Given the description of an element on the screen output the (x, y) to click on. 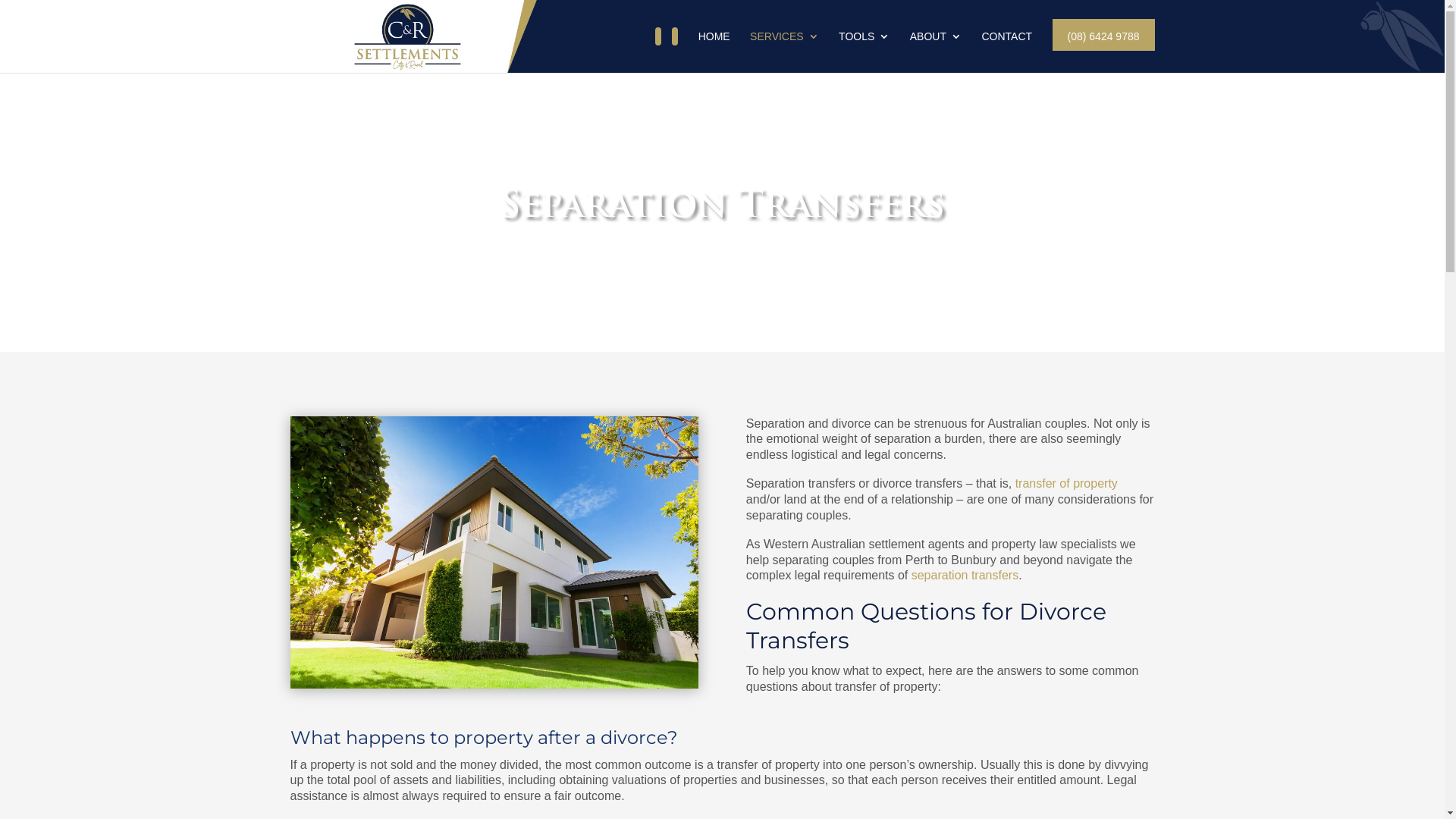
transfer of property Element type: text (1066, 482)
ABOUT Element type: text (935, 51)
Transfers Element type: hover (493, 552)
HOME Element type: text (714, 51)
TOOLS Element type: text (863, 51)
separation transfers Element type: text (964, 574)
CONTACT Element type: text (1006, 51)
SERVICES Element type: text (784, 51)
(08) 6424 9788 Element type: text (1103, 51)
